Given the description of an element on the screen output the (x, y) to click on. 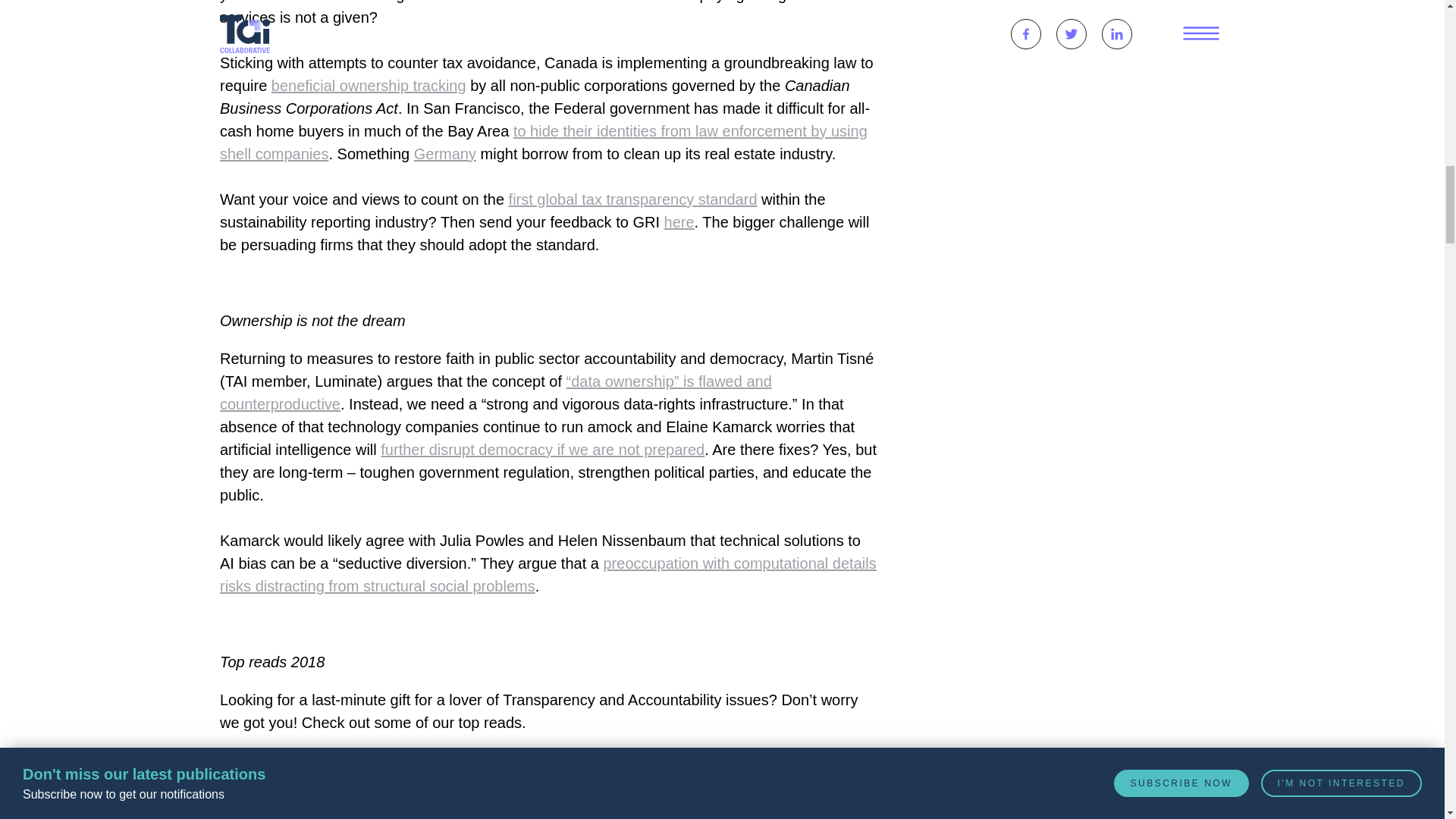
beneficial ownership tracking (367, 85)
further disrupt democracy if we are not prepared (542, 449)
first global tax transparency standard (632, 199)
here (678, 221)
Germany (444, 153)
